Given the description of an element on the screen output the (x, y) to click on. 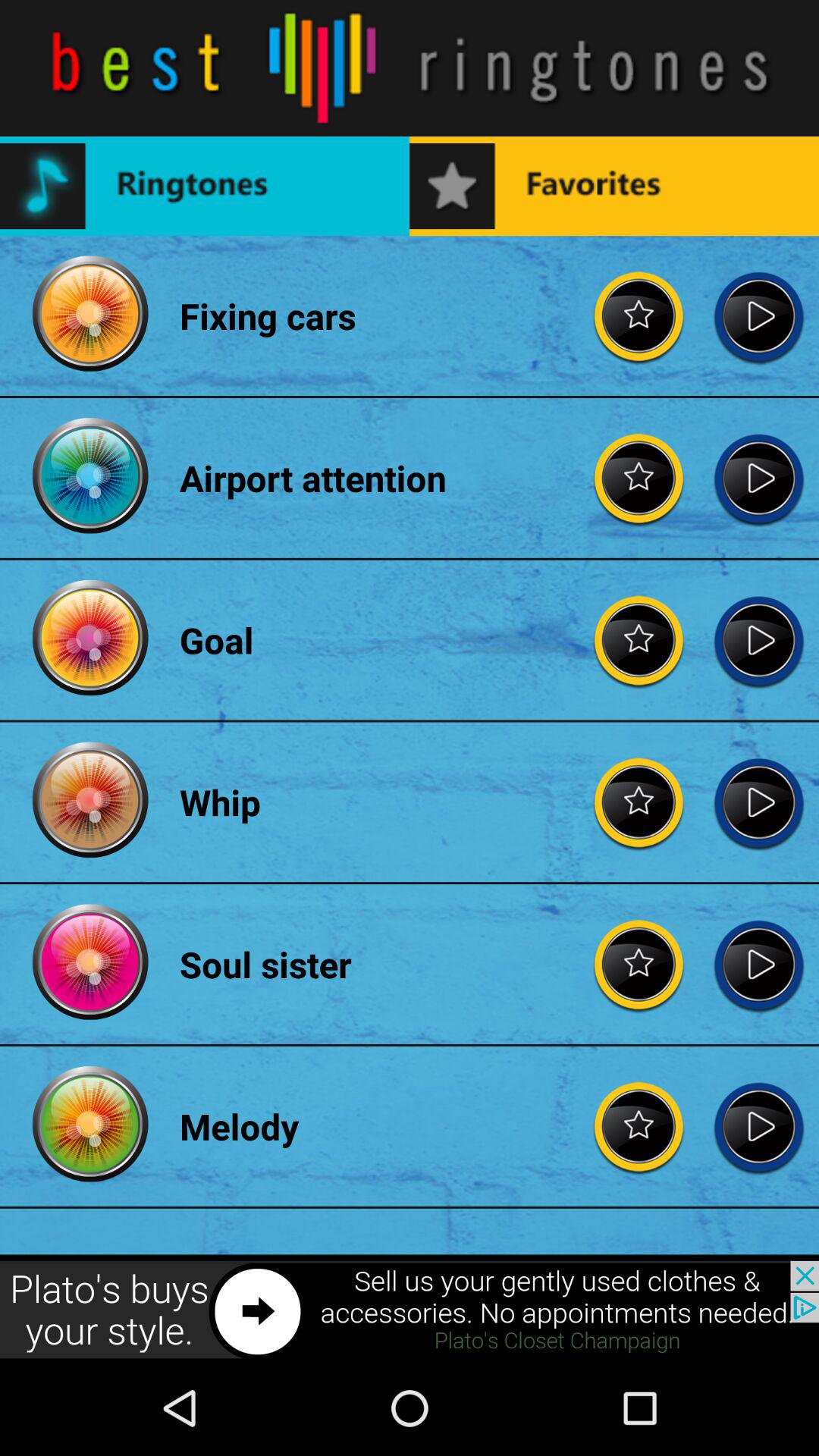
play (758, 477)
